Given the description of an element on the screen output the (x, y) to click on. 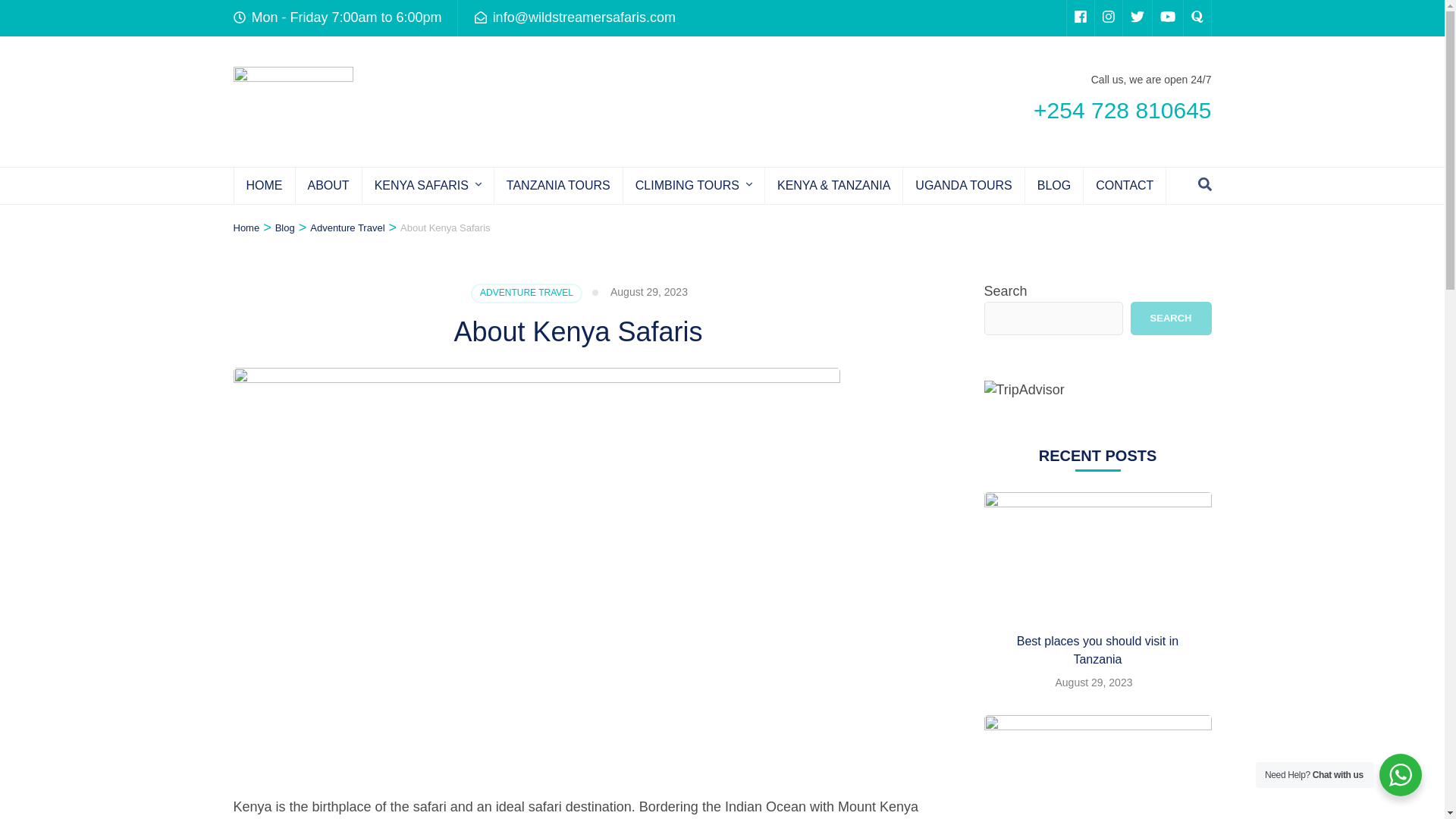
HOME (263, 185)
KENYA SAFARIS (421, 185)
TANZANIA TOURS (559, 185)
ABOUT (328, 185)
